Given the description of an element on the screen output the (x, y) to click on. 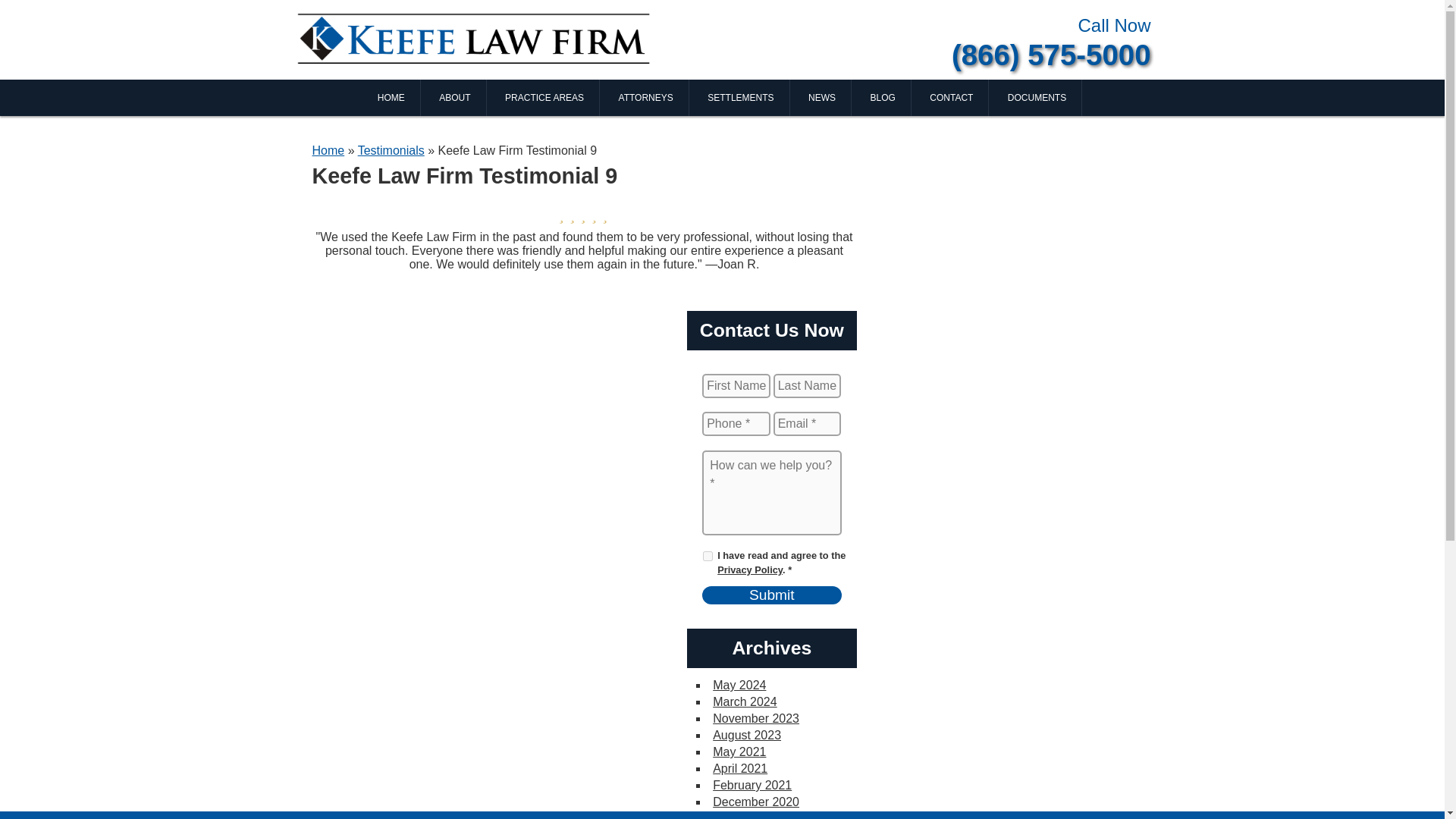
Home (329, 150)
Testimonials (391, 150)
ATTORNEYS (646, 97)
ABOUT (454, 97)
Submit (771, 595)
May 2024 (739, 684)
DOCUMENTS (1036, 97)
HOME (391, 97)
CONTACT (951, 97)
Keefe Law Firm (476, 38)
BLOG (882, 97)
Link to Keefe Law Firm Home (476, 38)
PRACTICE AREAS (544, 97)
Privacy Policy (750, 569)
Submit (771, 595)
